Given the description of an element on the screen output the (x, y) to click on. 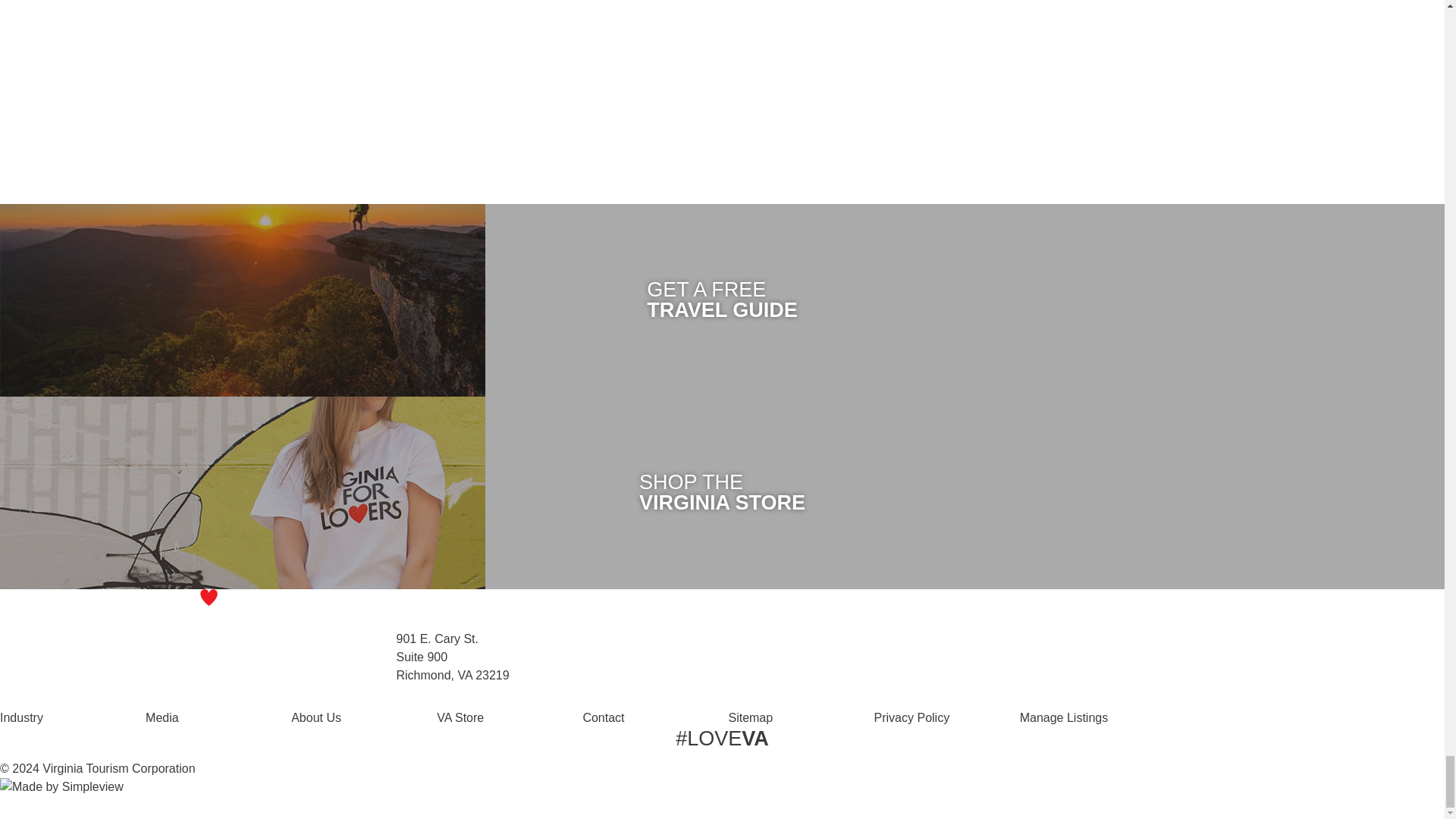
Media (162, 717)
Sitemap (750, 717)
Manage Listings (1064, 717)
About Us (315, 717)
VA Store (459, 717)
Contact (603, 717)
Industry (21, 717)
Privacy Policy (912, 717)
